Given the description of an element on the screen output the (x, y) to click on. 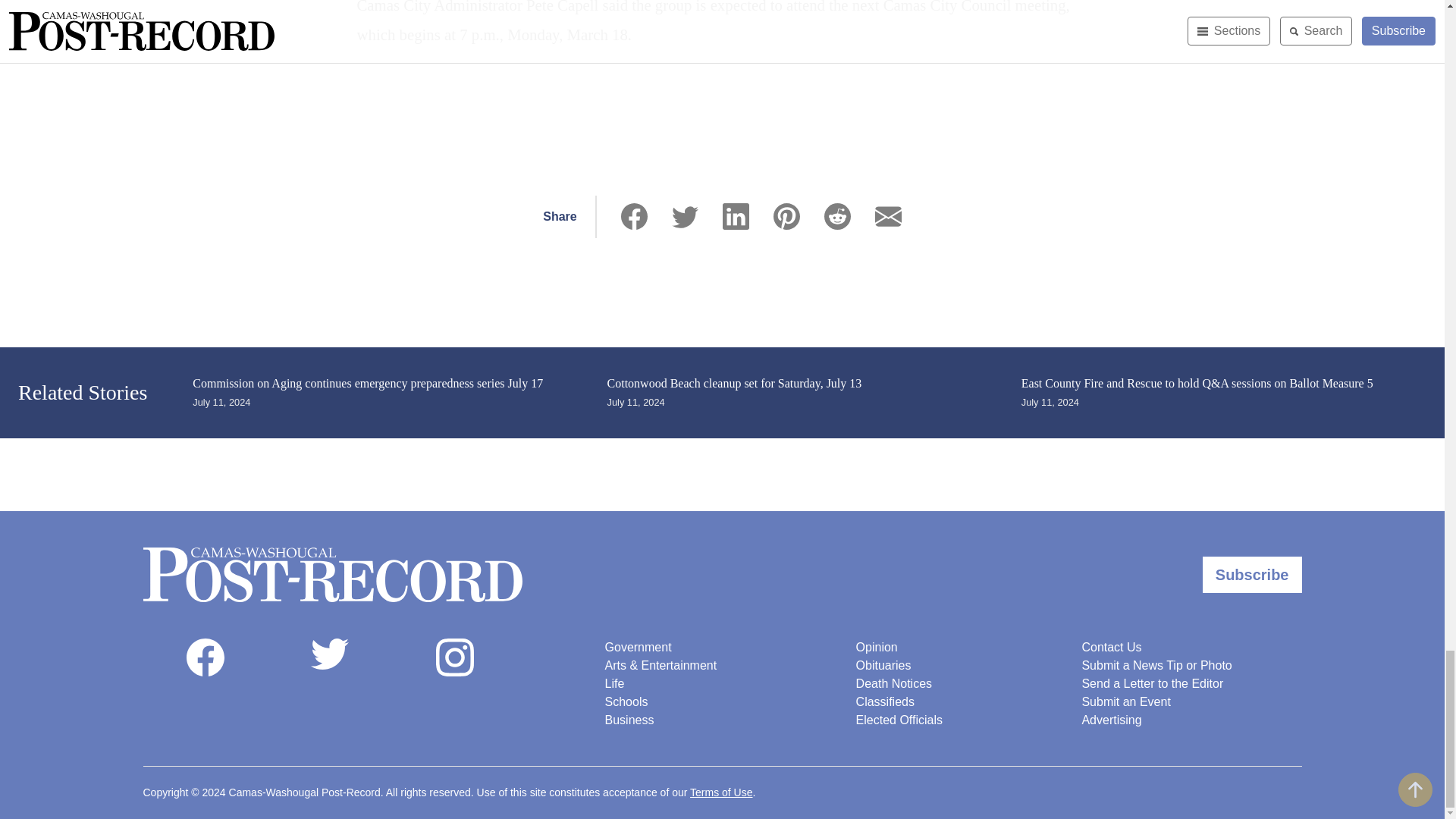
Share on Email (888, 216)
Share on LinkedIn (735, 216)
Share on Reddit (837, 216)
Share on Twitter (684, 216)
Share on Pinterest (786, 216)
Share on Facebook (634, 216)
